Given the description of an element on the screen output the (x, y) to click on. 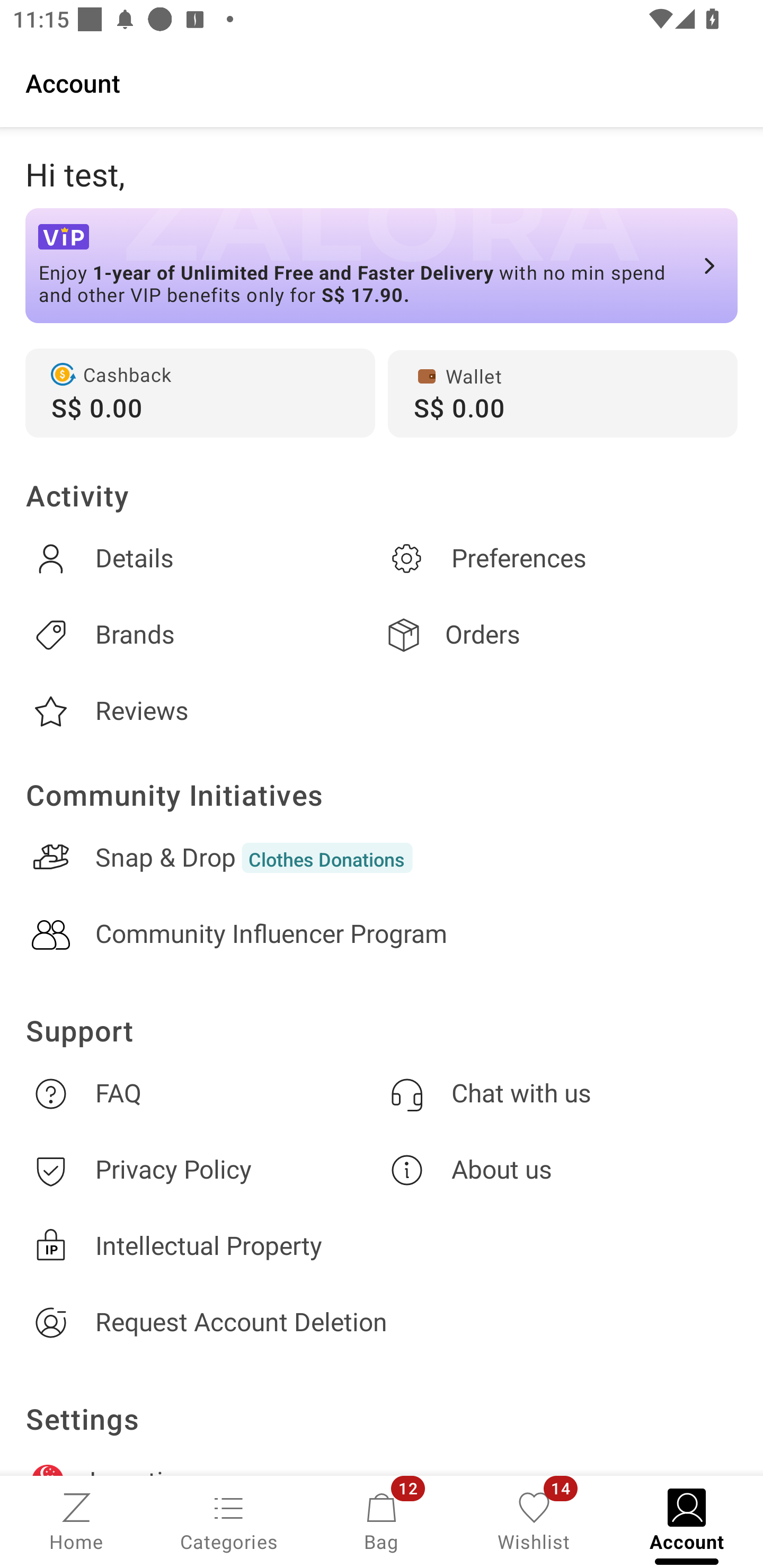
Account (381, 82)
Details (203, 558)
Preferences (559, 558)
Brands (203, 634)
Orders (559, 634)
Reviews (203, 710)
Snap & DropClothes Donations (381, 858)
Community Influencer Program (381, 934)
FAQ (203, 1093)
Chat with us (559, 1093)
Privacy Policy (203, 1170)
About us (559, 1170)
Intellectual Property (381, 1246)
Request Account Deletion (381, 1322)
Home (76, 1519)
Categories (228, 1519)
Bag, 12 new notifications Bag (381, 1519)
Wishlist, 14 new notifications Wishlist (533, 1519)
